Given the description of an element on the screen output the (x, y) to click on. 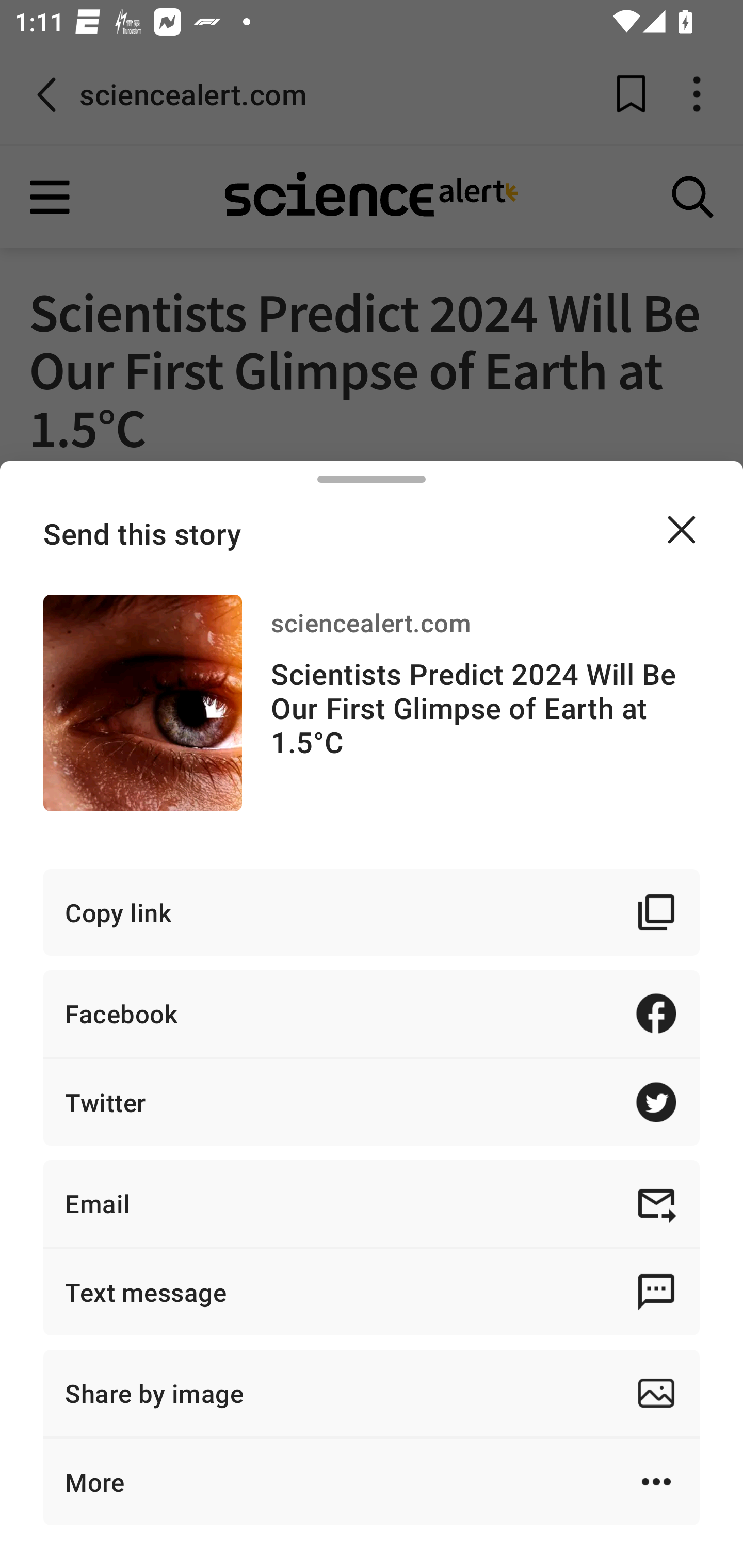
Copy link (371, 912)
Facebook (371, 1013)
Twitter (371, 1102)
Email (371, 1203)
Text message (371, 1291)
Share by image (371, 1393)
More (371, 1481)
